Given the description of an element on the screen output the (x, y) to click on. 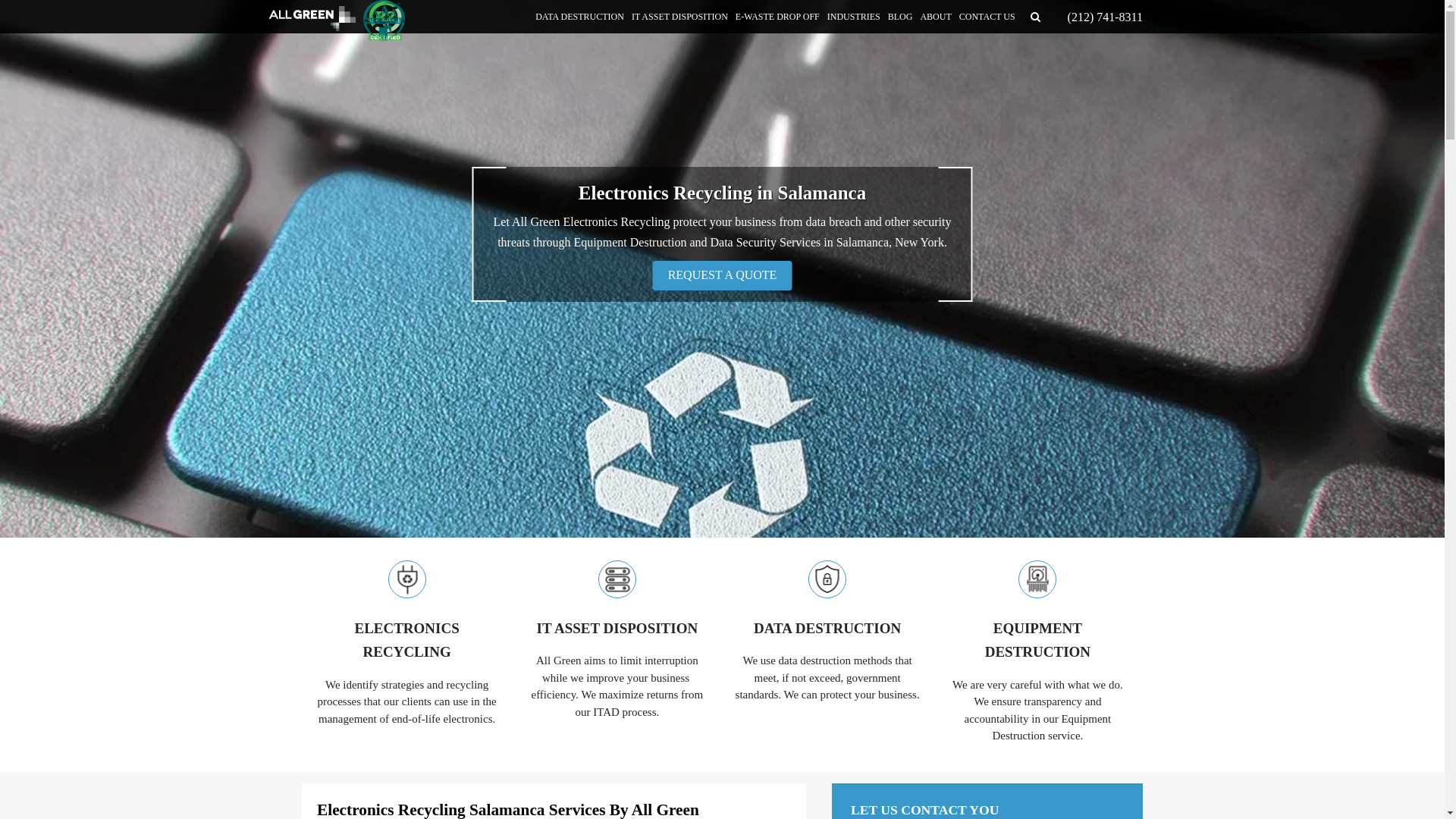
IT ASSET DISPOSITION (616, 628)
INDUSTRIES (853, 16)
E-WASTE DROP OFF (778, 16)
REQUEST A QUOTE (722, 276)
CONTACT US (987, 16)
DATA DESTRUCTION (579, 16)
ABOUT (935, 16)
DATA DESTRUCTION (827, 628)
EQUIPMENT DESTRUCTION (1037, 640)
ELECTRONICS RECYCLING (406, 640)
IT ASSET DISPOSITION (679, 16)
BLOG (900, 16)
